Given the description of an element on the screen output the (x, y) to click on. 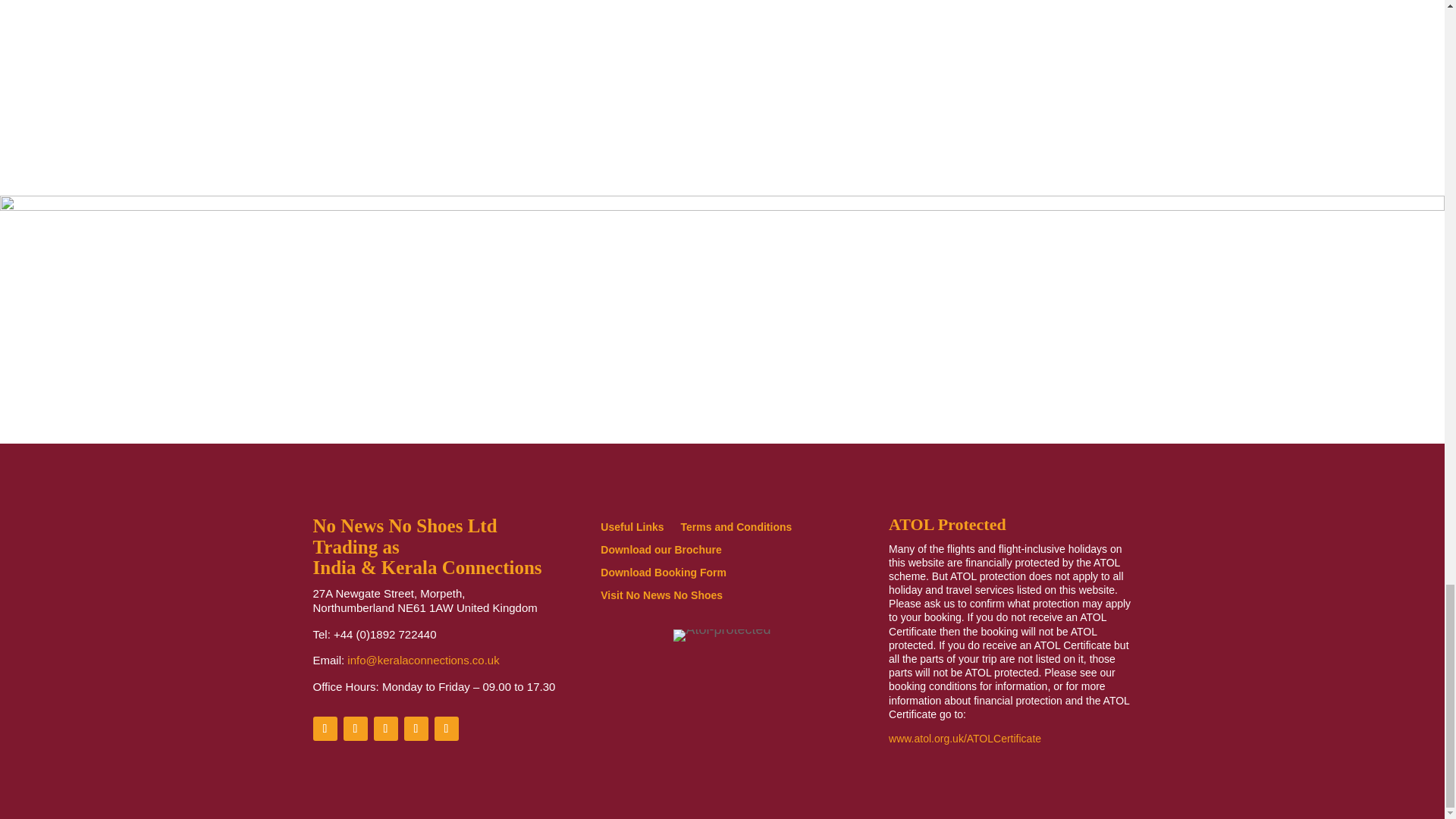
Terms and Conditions (736, 529)
Visit No News No Shoes (660, 597)
Follow on X (354, 728)
Follow on Youtube (445, 728)
Useful Links (631, 529)
Atol-protected-150x150 (721, 635)
Follow on Instagram (415, 728)
Download Booking Form (662, 575)
Download our Brochure (659, 552)
Follow on Pinterest (384, 728)
Follow on Facebook (324, 728)
